Given the description of an element on the screen output the (x, y) to click on. 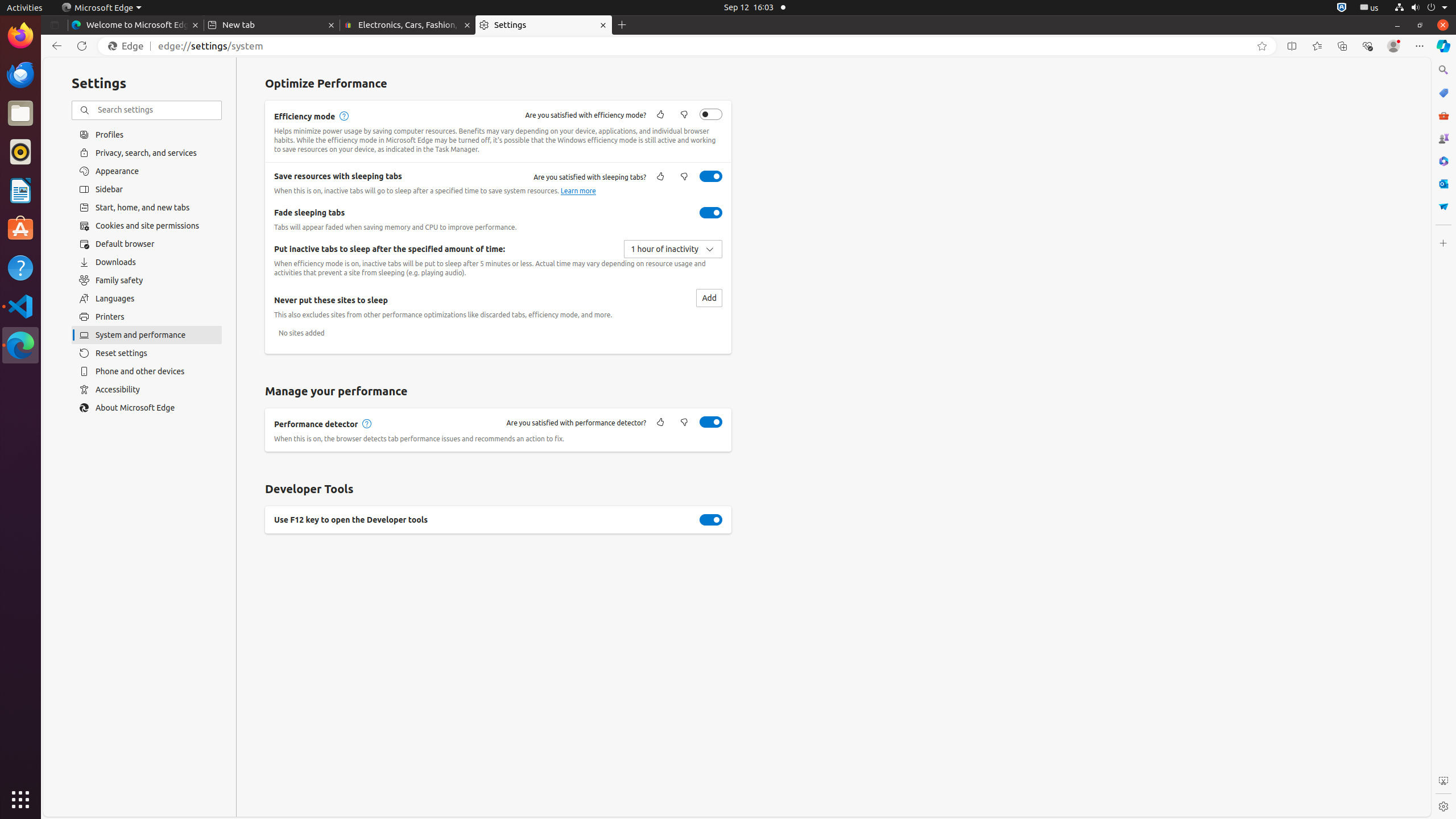
Firefox Web Browser Element type: push-button (20, 35)
Help Element type: push-button (20, 267)
Tools Element type: push-button (1443, 115)
Drop Element type: push-button (1443, 206)
:1.21/StatusNotifierItem Element type: menu (1369, 7)
